Given the description of an element on the screen output the (x, y) to click on. 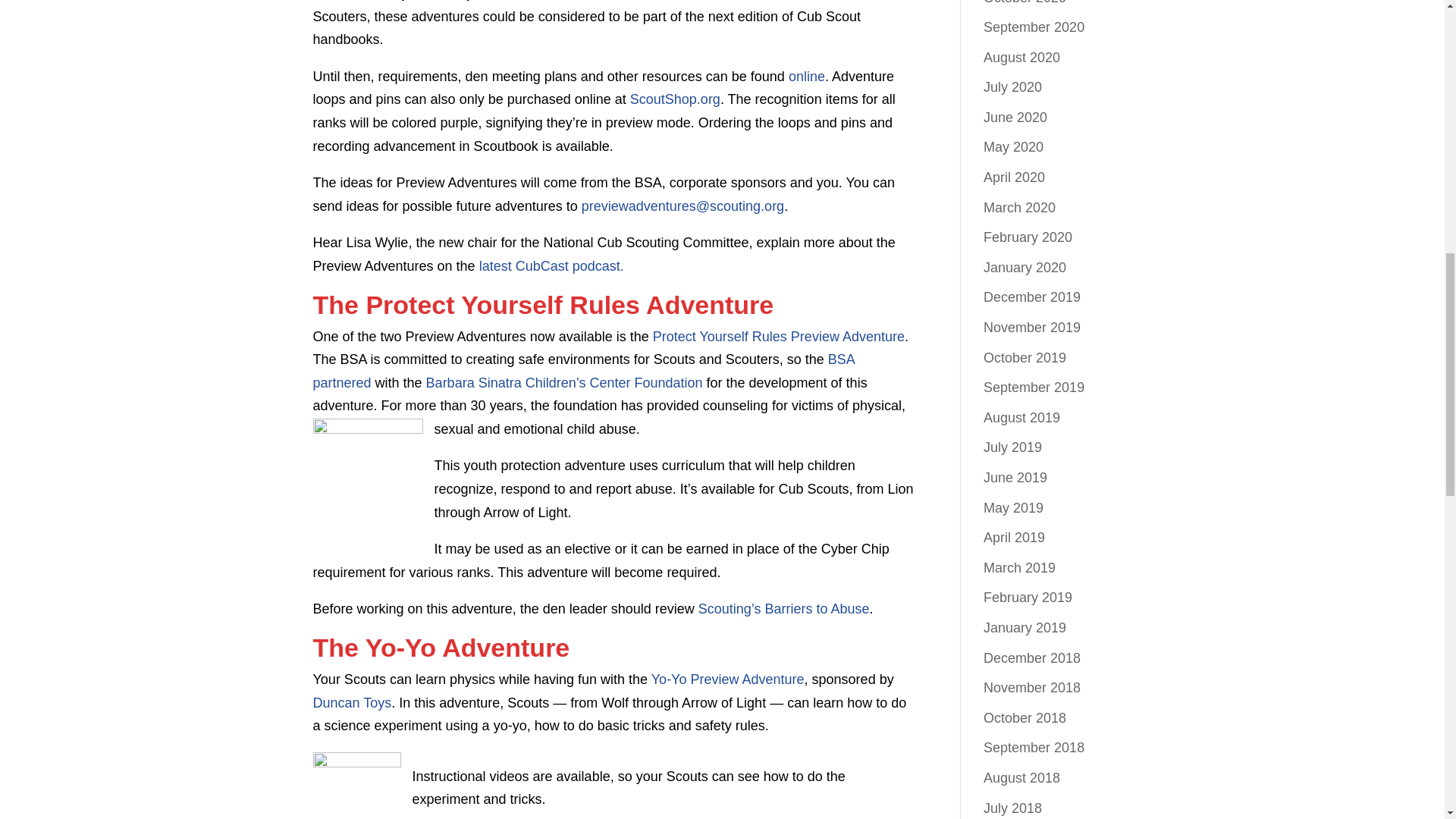
BSA partnered (583, 371)
ScoutShop.org (675, 99)
latest CubCast podcast. (550, 265)
Yo-Yo Preview Adventure (727, 679)
Protect Yourself Rules Preview Adventure (778, 336)
Duncan Toys (352, 702)
online (807, 76)
